Given the description of an element on the screen output the (x, y) to click on. 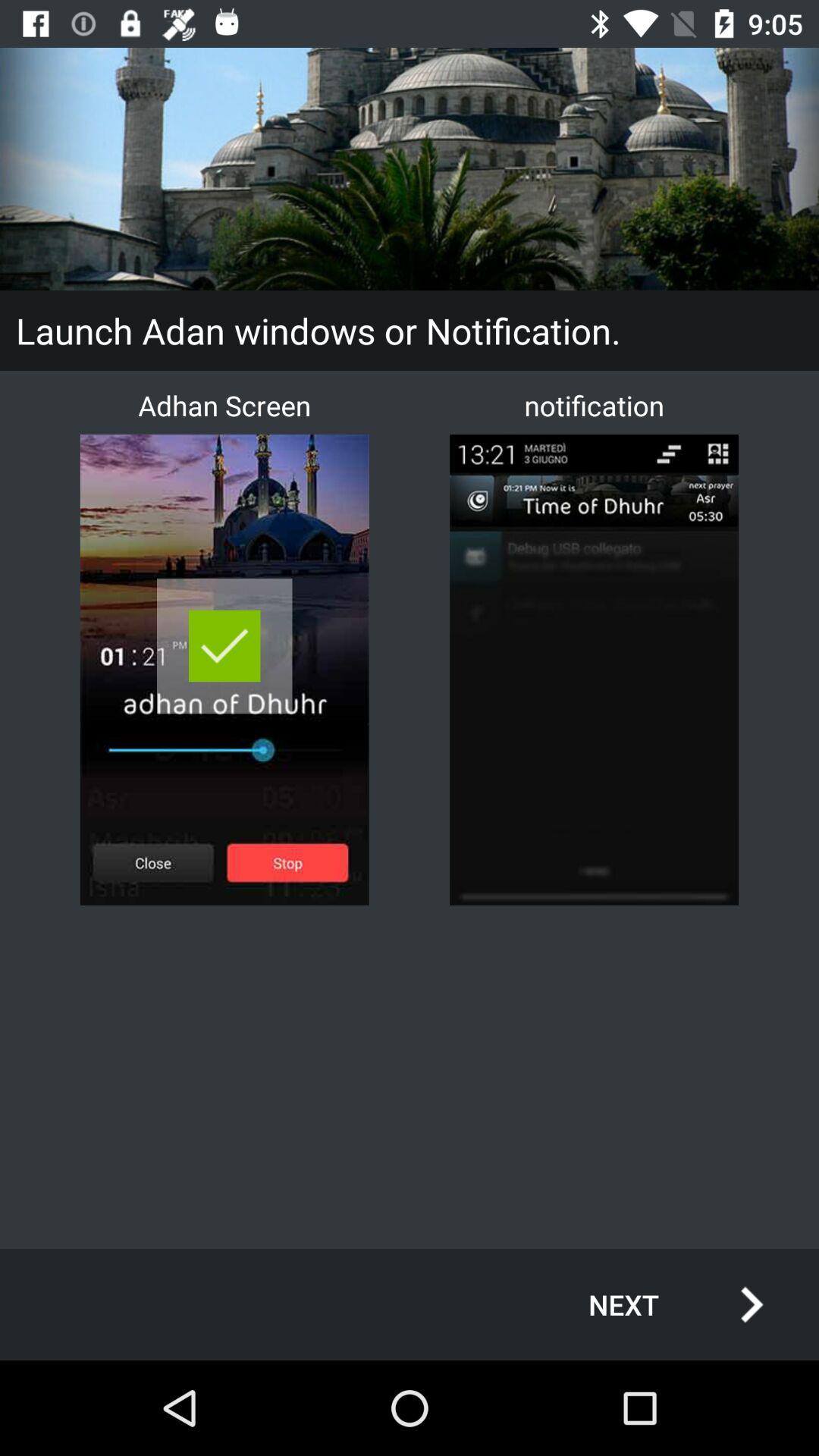
flip to the next (659, 1304)
